Given the description of an element on the screen output the (x, y) to click on. 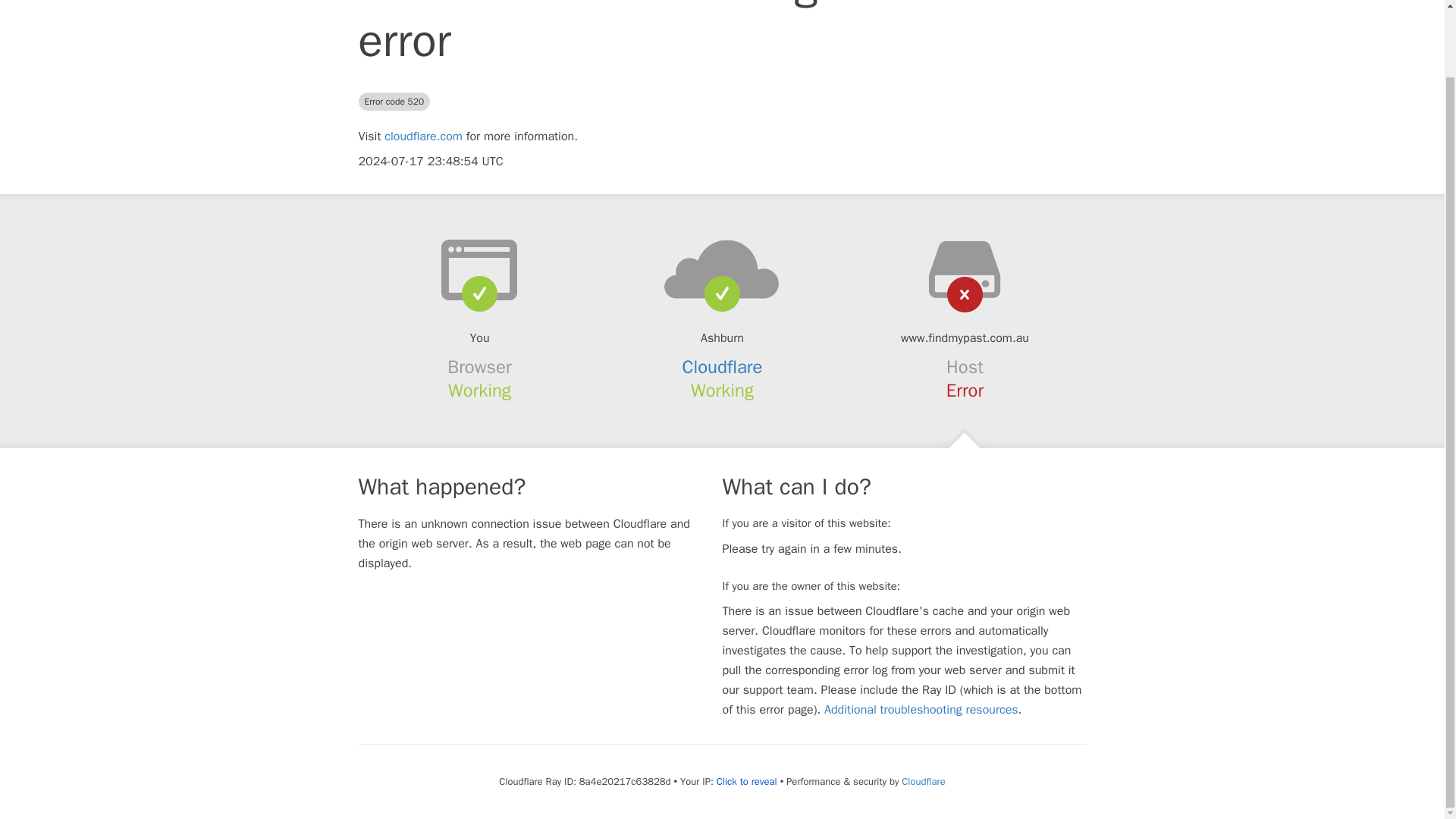
Additional troubleshooting resources (920, 709)
cloudflare.com (423, 136)
Click to reveal (746, 781)
Cloudflare (722, 366)
Cloudflare (922, 780)
